Given the description of an element on the screen output the (x, y) to click on. 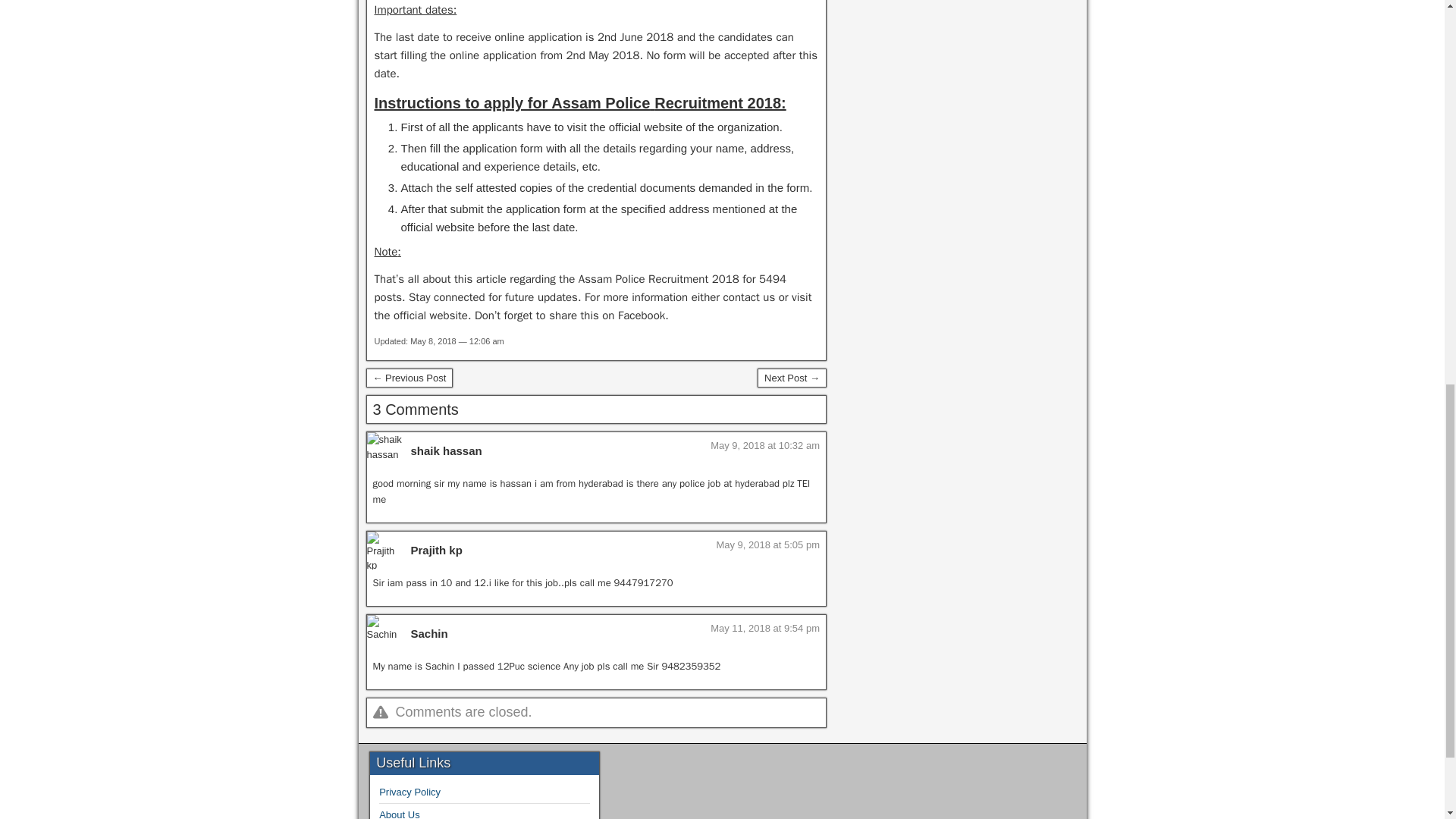
Indian Navy Recruitment 2018 For 95 Fireman Posts (408, 378)
About Us (398, 814)
May 11, 2018 at 9:54 pm (764, 627)
May 9, 2018 at 5:05 pm (767, 544)
May 9, 2018 at 10:32 am (764, 445)
Privacy Policy (409, 791)
